Given the description of an element on the screen output the (x, y) to click on. 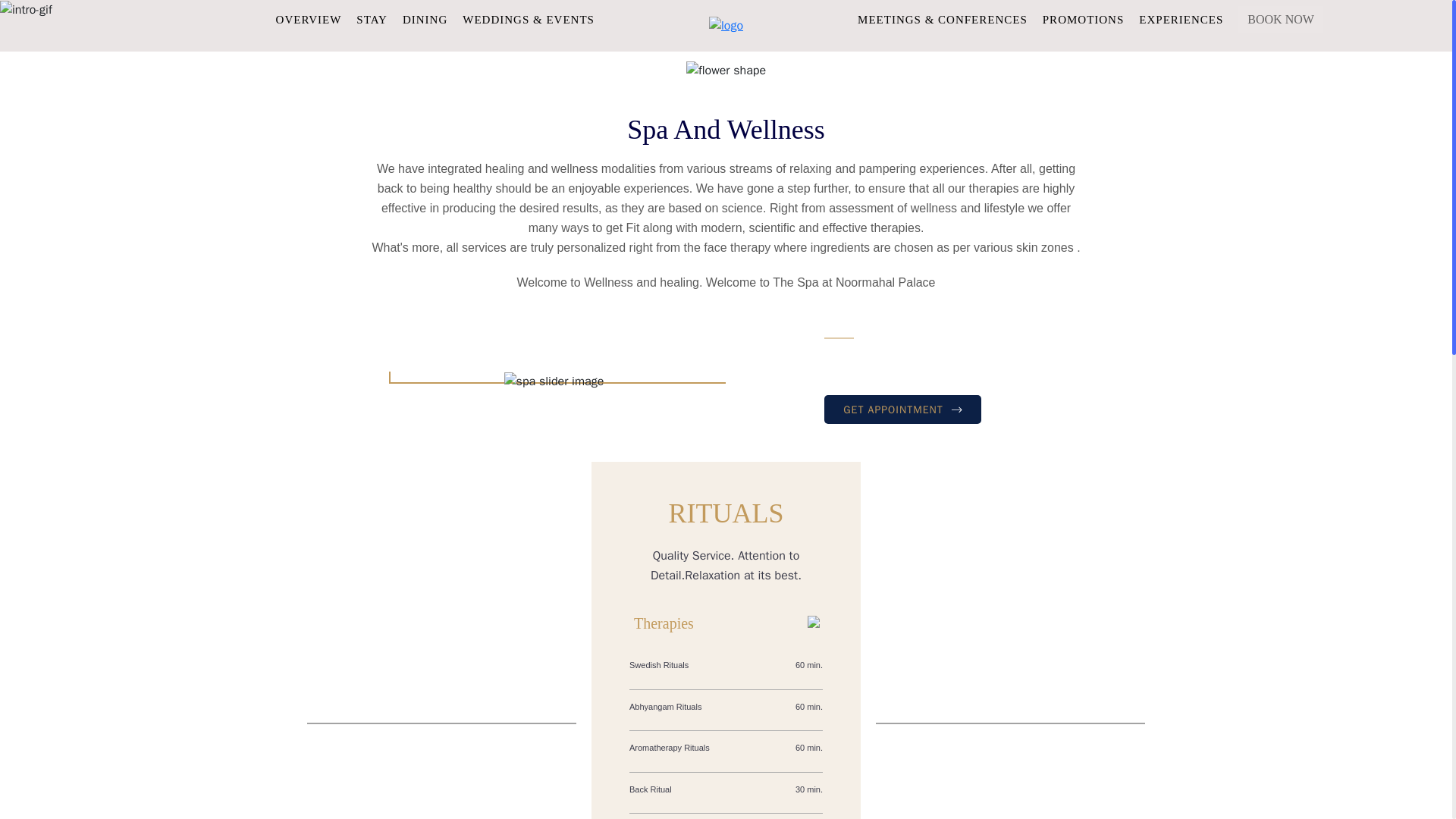
BOOK NOW (1281, 19)
PROMOTIONS (1083, 19)
STAY (371, 19)
DINING (424, 19)
GET APPOINTMENT (901, 409)
Therapies (725, 622)
EXPERIENCES (1180, 19)
OVERVIEW (309, 19)
